Given the description of an element on the screen output the (x, y) to click on. 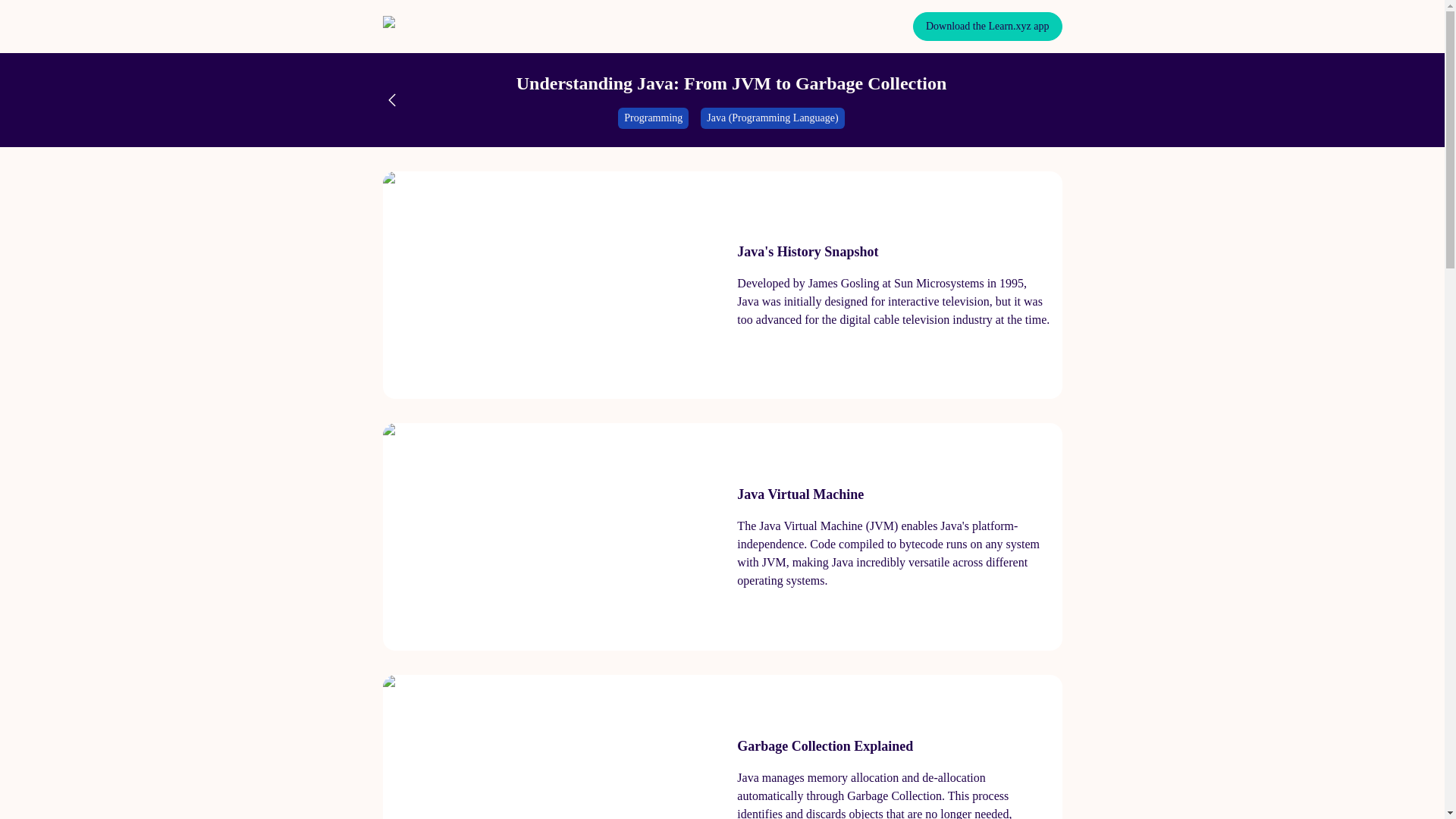
Programming (652, 117)
Download the Learn.xyz app (987, 26)
